Given the description of an element on the screen output the (x, y) to click on. 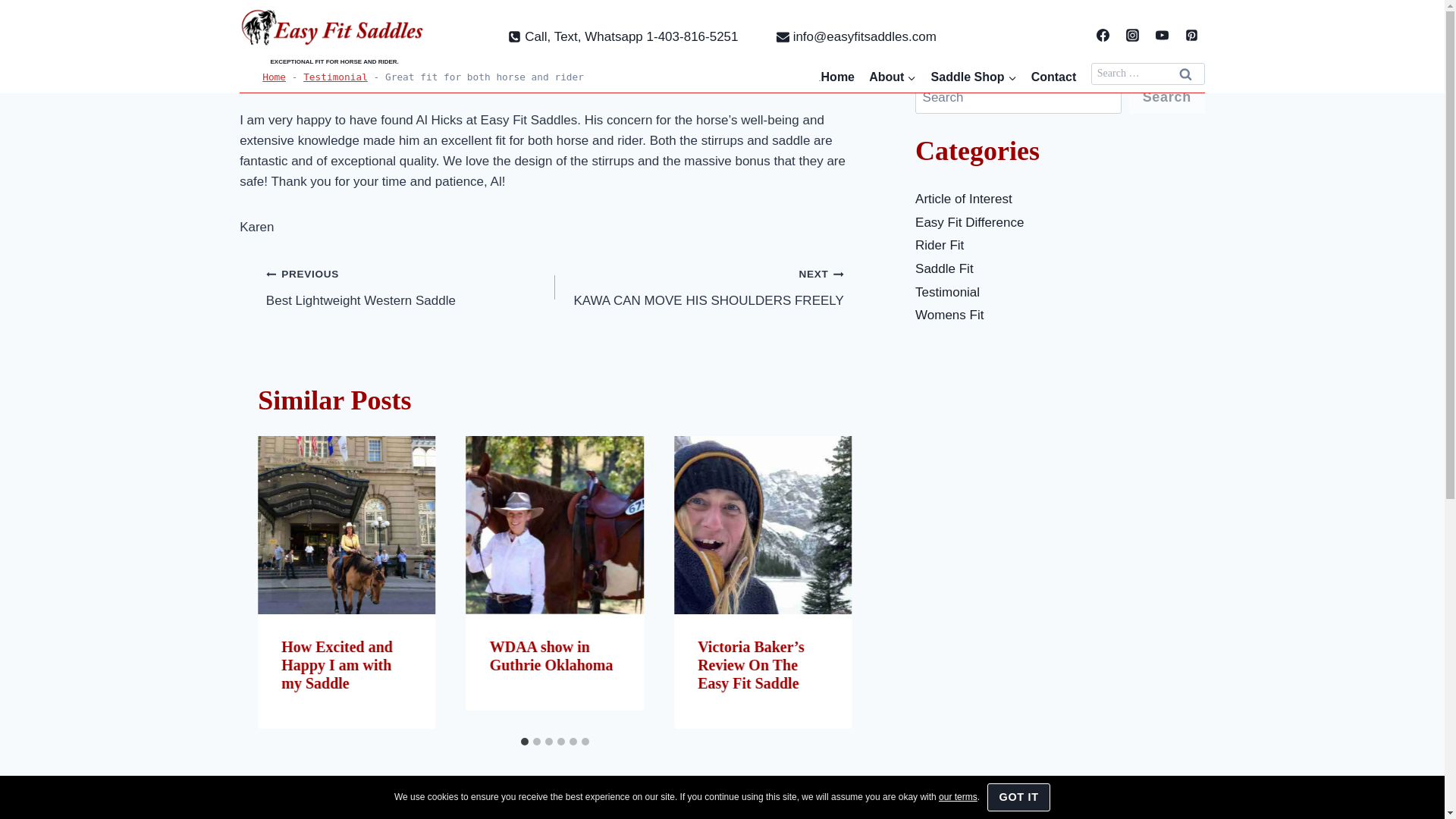
Saddle Shop (973, 76)
Home (836, 76)
Testimonial (335, 76)
About (892, 76)
Search (1186, 73)
Call, Text, Whatsapp 1-403-816-5251 (623, 36)
Search (1186, 73)
WDAA show in Guthrie Oklahoma 2 (554, 524)
EXCEPTIONAL FIT FOR HORSE AND RIDER. (334, 34)
Home (273, 76)
Victoria Baker's Review On The Easy Fit Saddle 3 (762, 524)
How Excited and Happy I am with my Saddle 1 (346, 524)
